Given the description of an element on the screen output the (x, y) to click on. 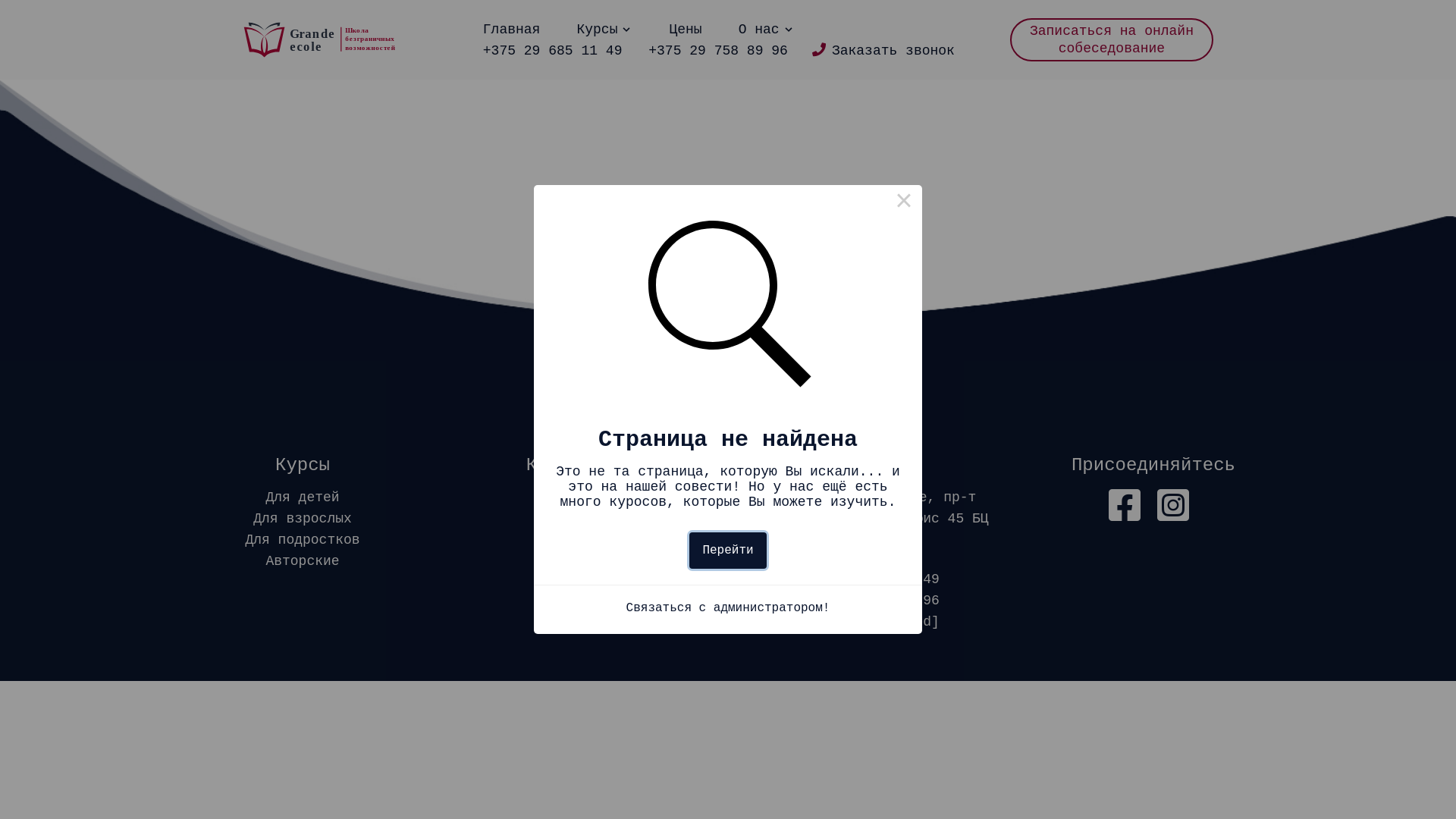
+375 29 758 89 96 Element type: text (717, 49)
+375 29 758 89 96 Element type: text (869, 600)
+375 29 685 11 49 Element type: text (869, 578)
+375 29 685 11 49 Element type: text (552, 49)
[email protected] Element type: text (869, 621)
